Given the description of an element on the screen output the (x, y) to click on. 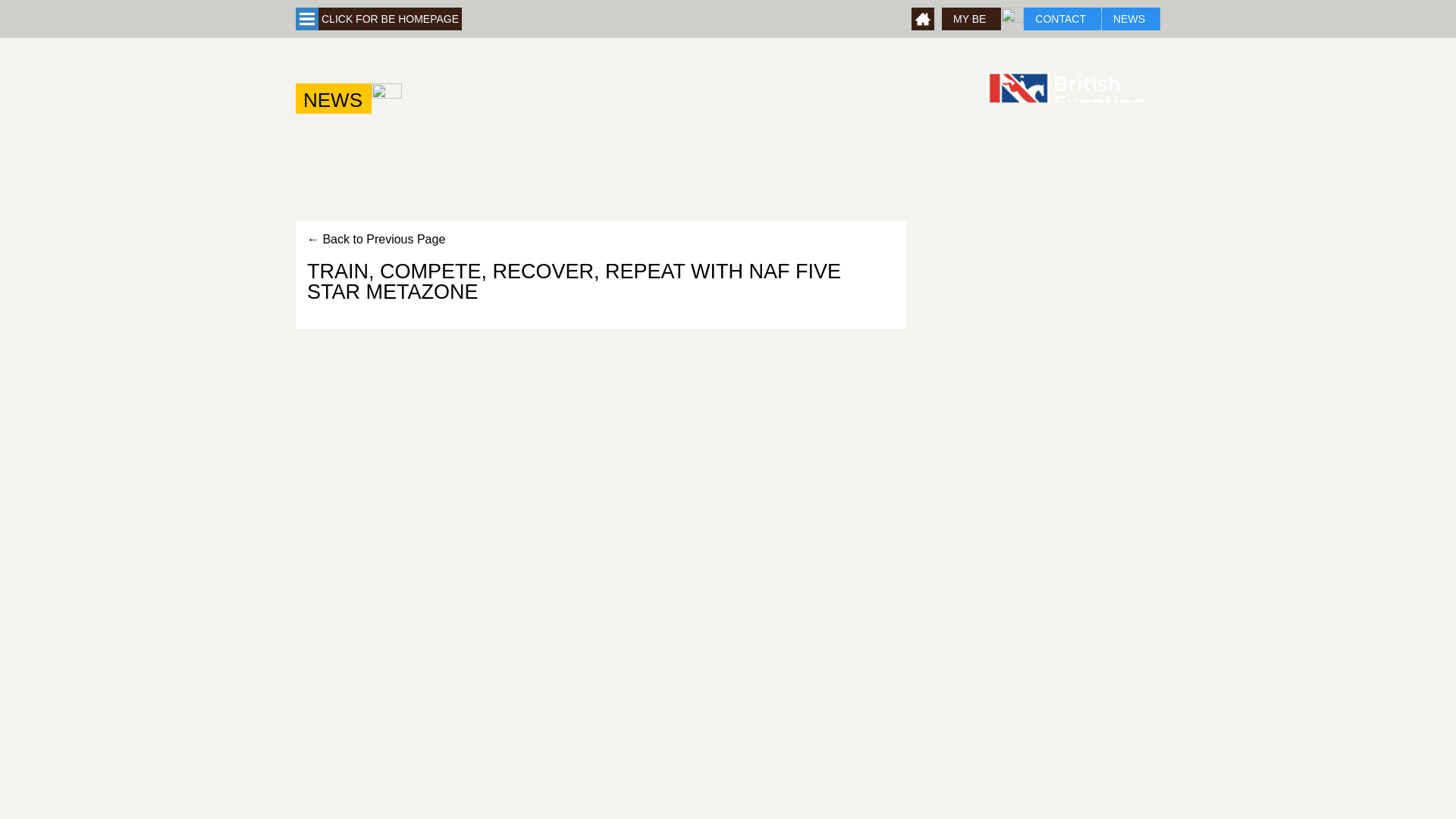
NEWS (1130, 18)
NEWS (333, 98)
MY BE (971, 18)
CONTACT (1061, 18)
CLICK FOR BE HOMEPAGE (389, 18)
